Given the description of an element on the screen output the (x, y) to click on. 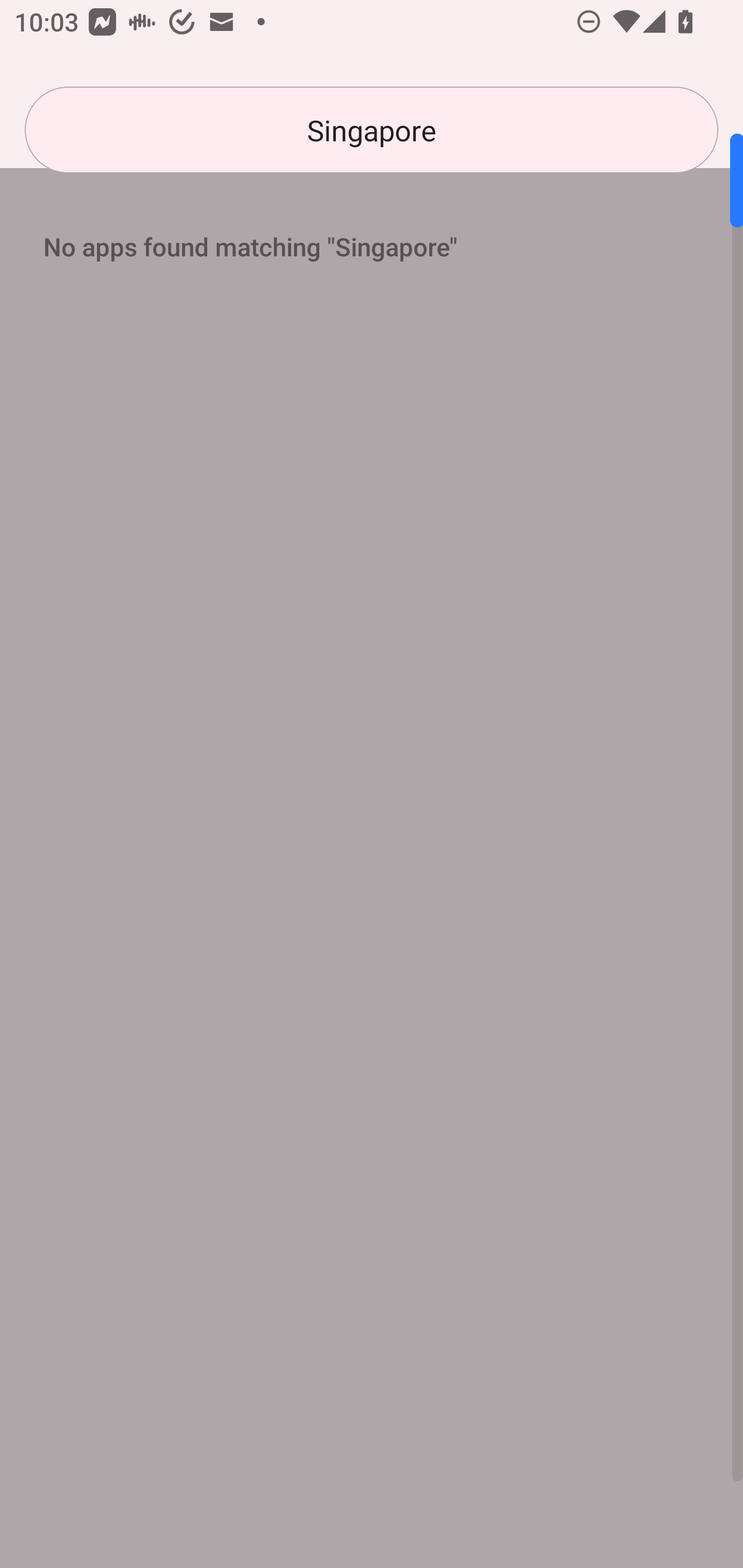
Singapore (371, 130)
